Given the description of an element on the screen output the (x, y) to click on. 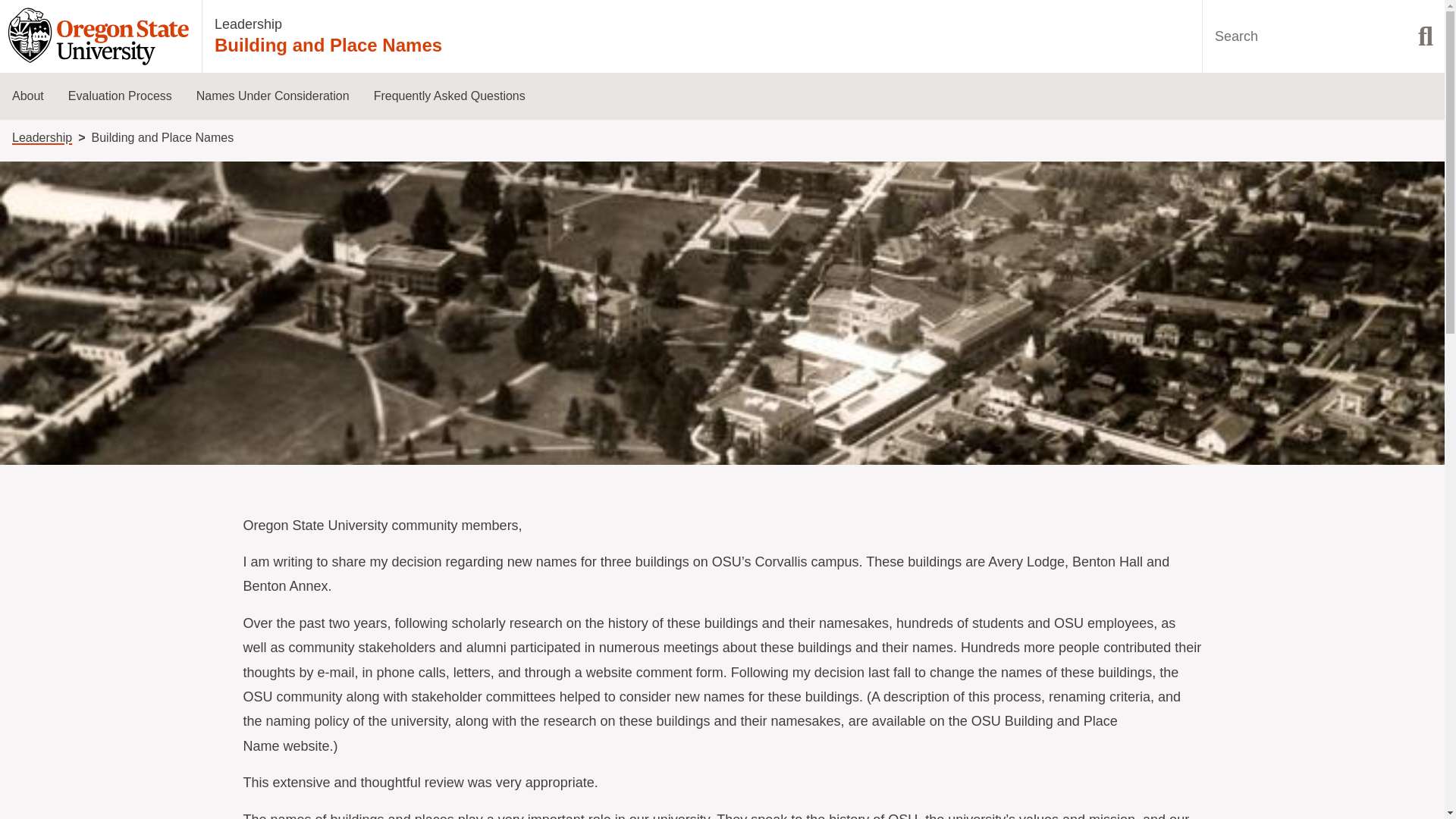
Evaluation Process (120, 96)
Names Under Consideration (272, 96)
Building and Place Names (328, 45)
Process (137, 212)
Background and Timeline (81, 212)
Leadership (248, 23)
Leadership (41, 137)
Frequently Asked Questions (449, 96)
About (28, 96)
Historical Inquiry (265, 258)
